Given the description of an element on the screen output the (x, y) to click on. 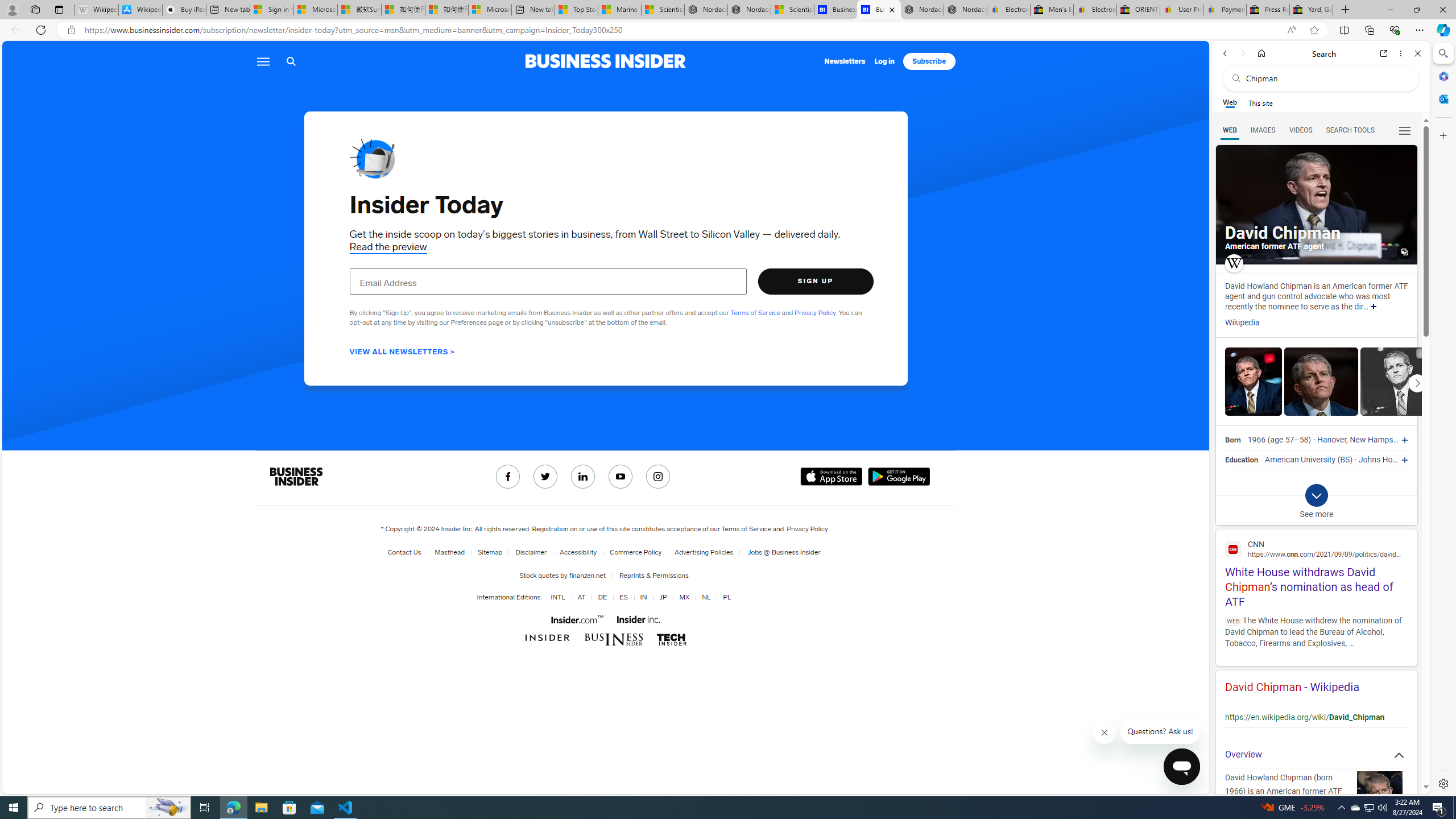
Click to visit us on Twitter (544, 476)
Tech Insider Logo (670, 639)
Business Insider DE Logo (613, 639)
finanzen.net (585, 575)
